Given the description of an element on the screen output the (x, y) to click on. 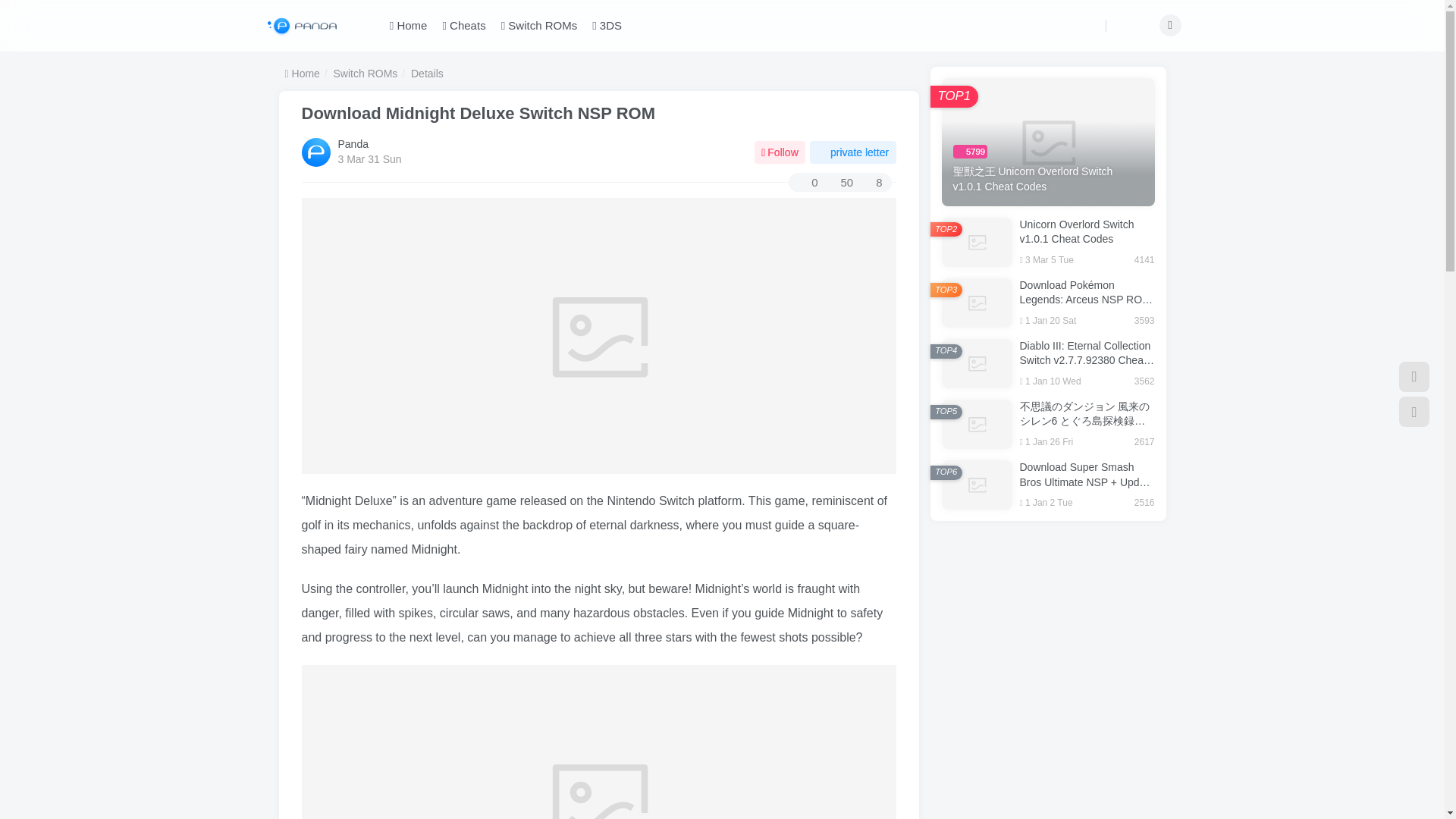
Home (302, 73)
Home (408, 25)
Switch ROMs (365, 73)
Follow (779, 152)
Panda (352, 144)
Switch ROMs (539, 25)
Go comment (806, 182)
3DS (606, 25)
private letter (852, 152)
0 (806, 182)
Cheats (463, 25)
3 Mar 31 Sun 03:55post (369, 159)
LV6 (376, 143)
Switch themes (1414, 376)
Download Midnight Deluxe Switch NSP ROM (478, 113)
